Given the description of an element on the screen output the (x, y) to click on. 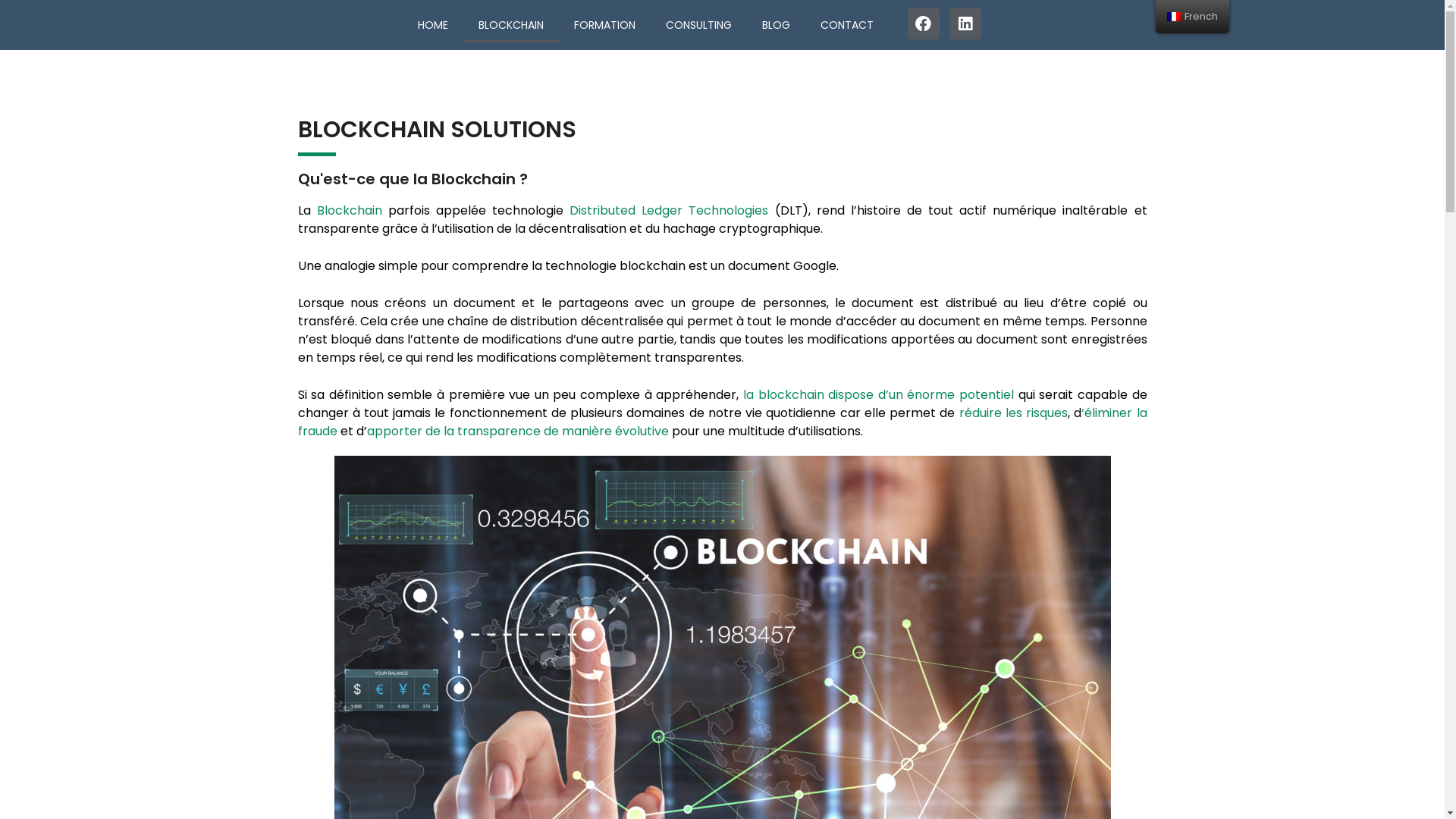
HOME Element type: text (432, 24)
FORMATION Element type: text (604, 24)
BLOG Element type: text (775, 24)
French Element type: text (1192, 16)
CONTACT Element type: text (846, 24)
CONSULTING Element type: text (698, 24)
BLOCKCHAIN Element type: text (510, 24)
French Element type: hover (1173, 16)
